Given the description of an element on the screen output the (x, y) to click on. 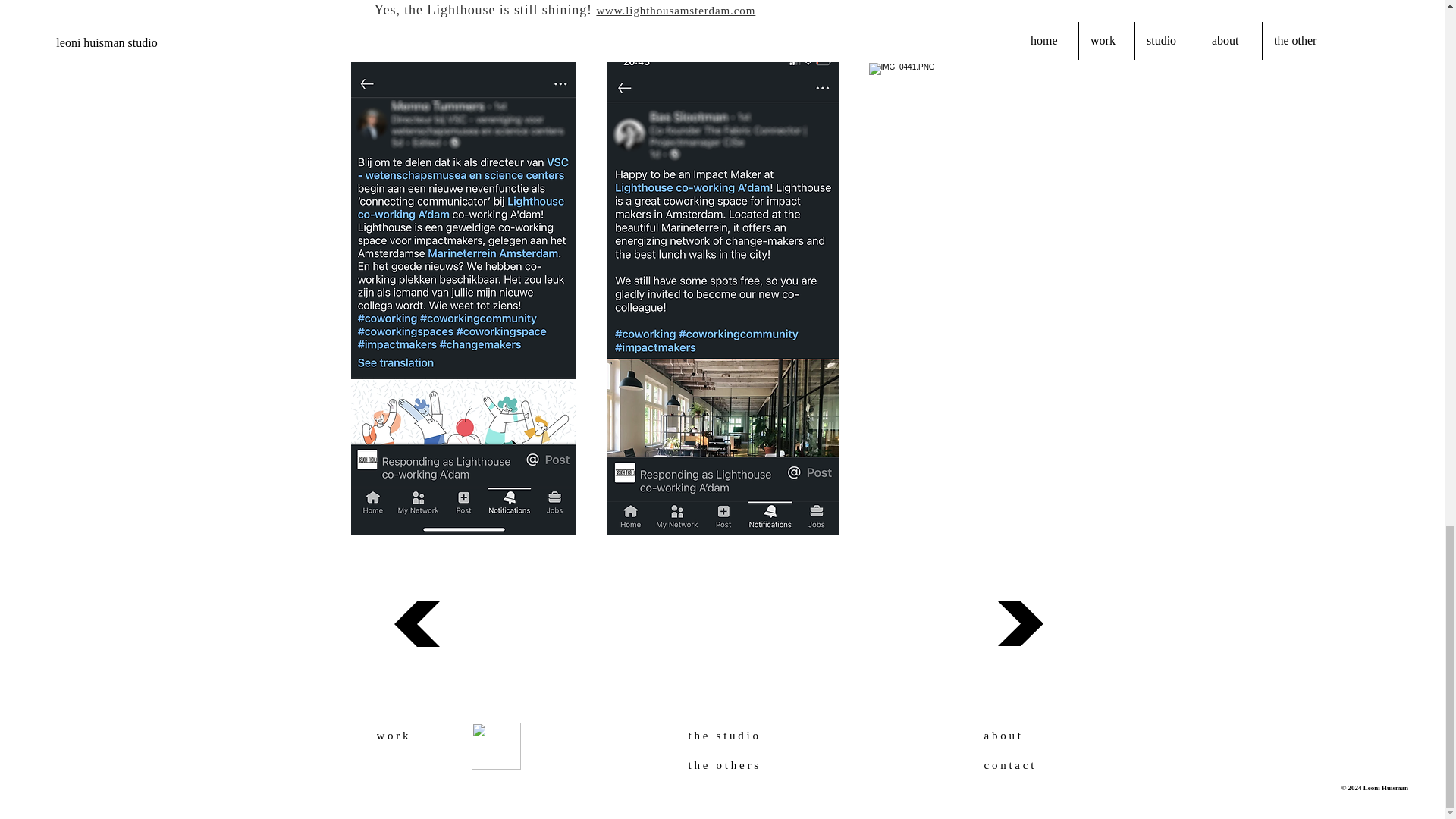
about (1025, 736)
the studio (745, 736)
contact (1025, 765)
www.lighthousamsterdam.com (675, 9)
the others (742, 765)
work (417, 736)
